Given the description of an element on the screen output the (x, y) to click on. 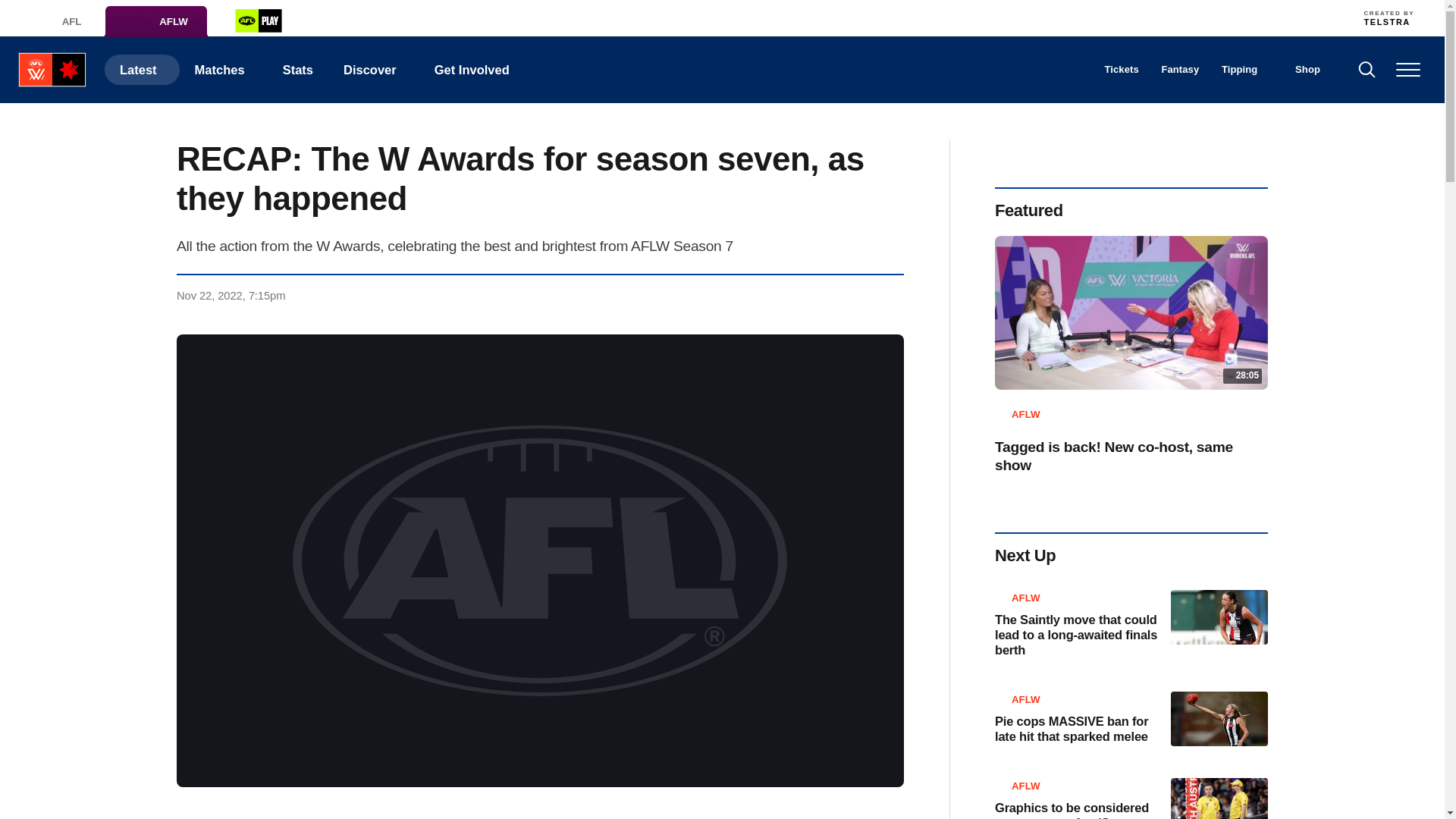
Brisbane (571, 17)
West Coast Eagles (1071, 17)
Geelong (737, 17)
AFLW Logo (51, 69)
GWS Giants (804, 17)
Brisbane (571, 17)
Fremantle (704, 17)
Sydney Swans (1037, 17)
Sydney Swans (1037, 17)
Hawthorn (837, 17)
